Given the description of an element on the screen output the (x, y) to click on. 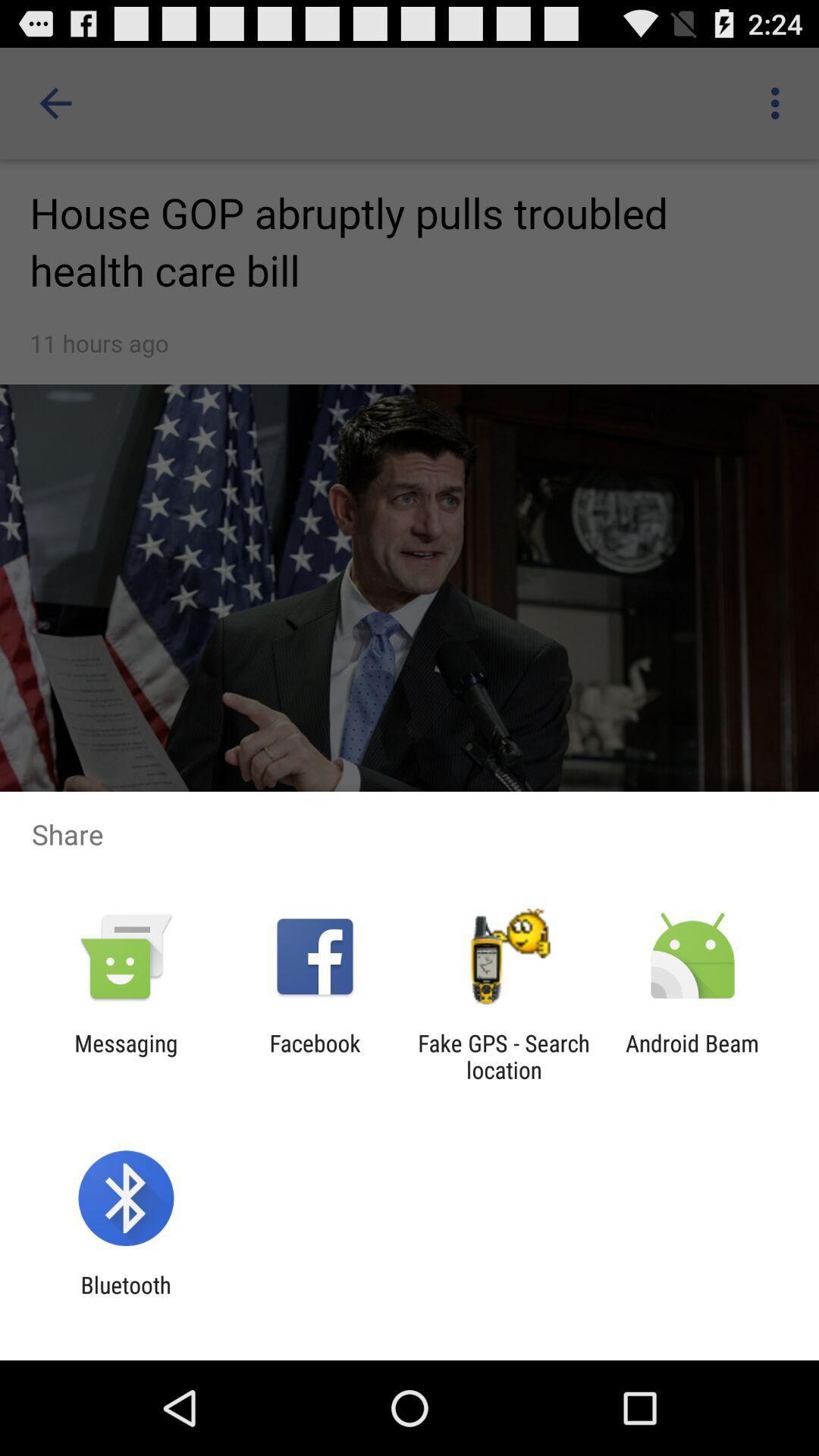
flip until android beam item (692, 1056)
